Given the description of an element on the screen output the (x, y) to click on. 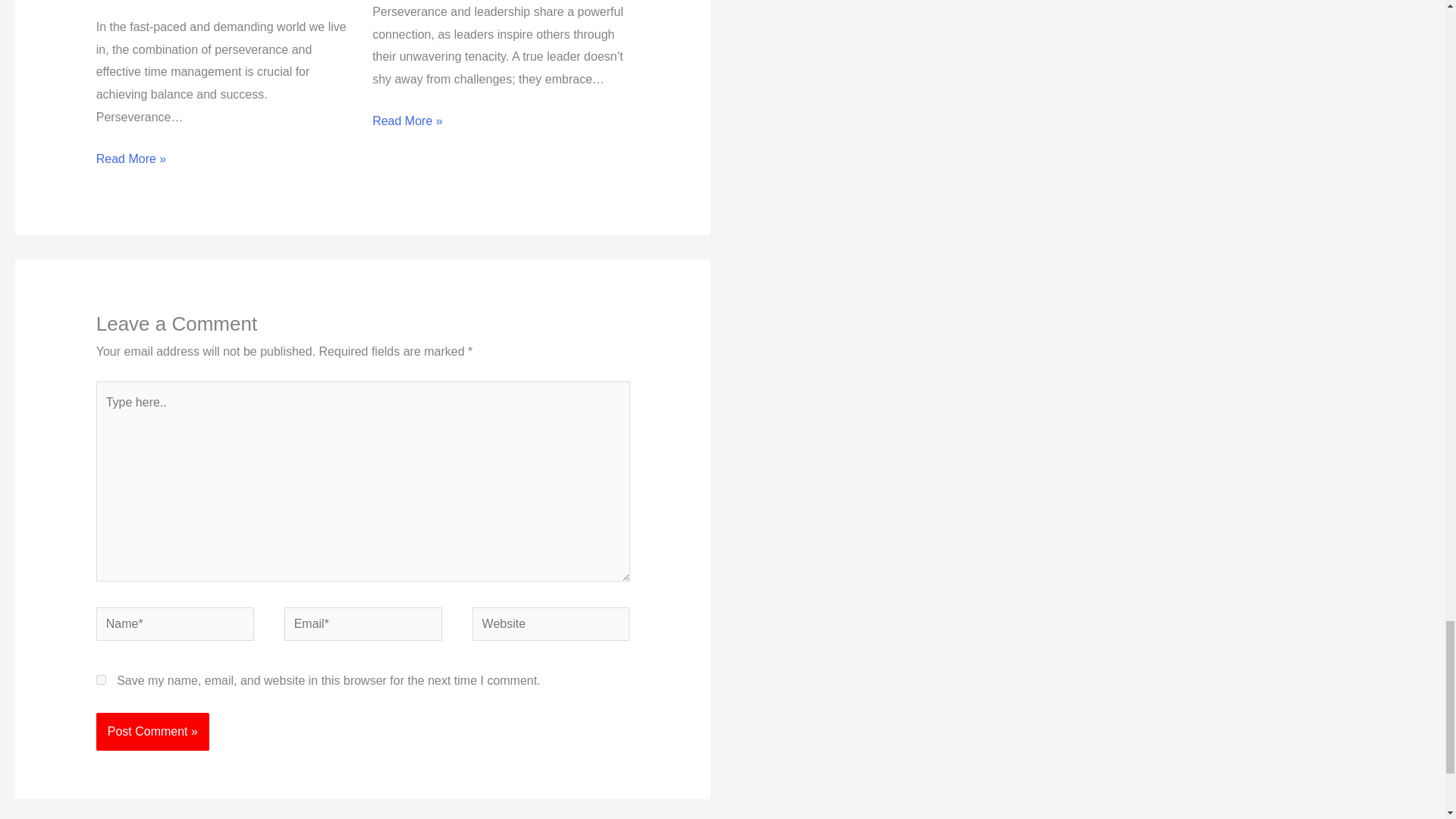
yes (101, 679)
